Given the description of an element on the screen output the (x, y) to click on. 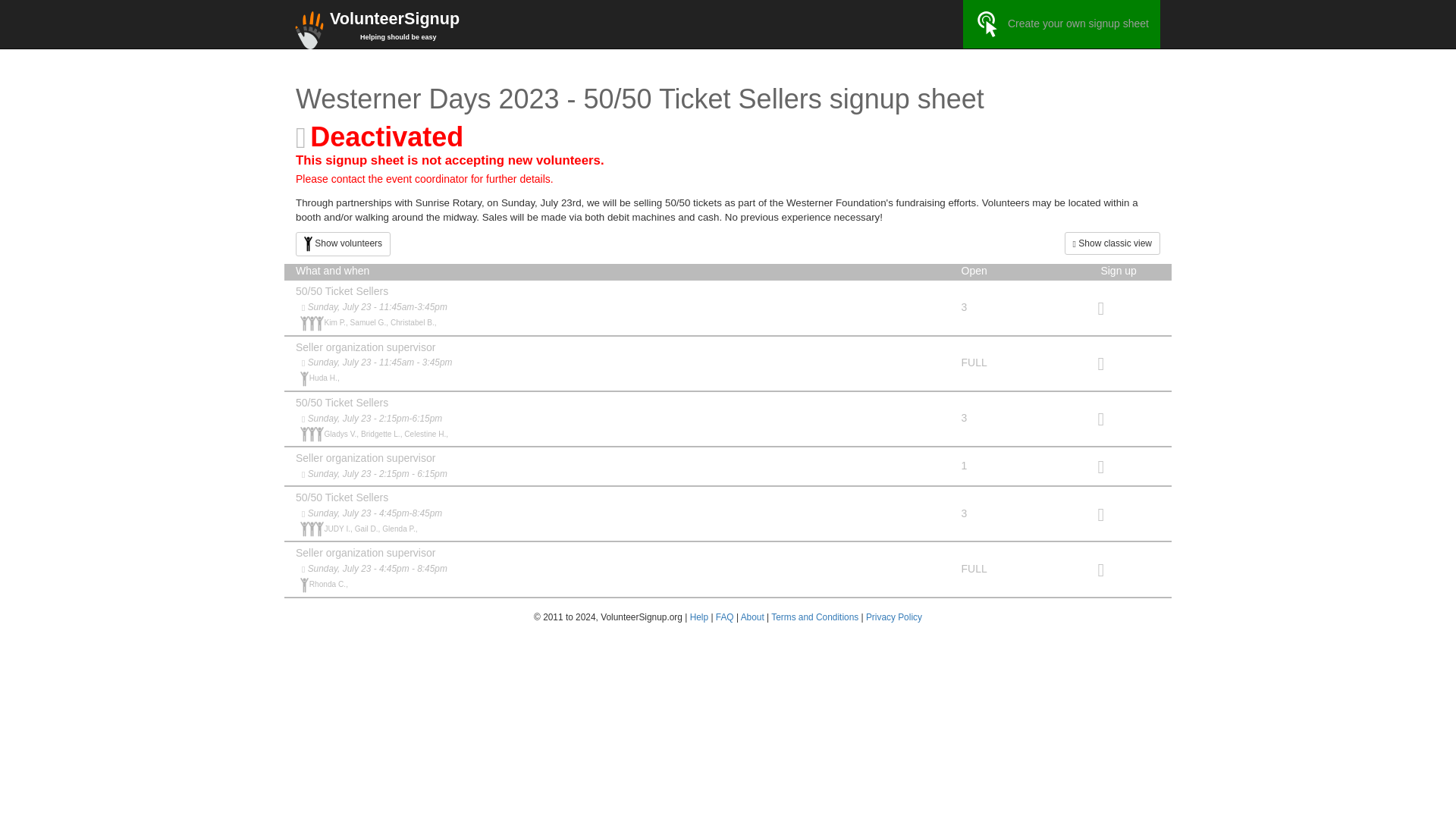
About VolunteerSignup (752, 616)
Show classic view (1112, 242)
Privacy Policy (893, 616)
Show volunteers (342, 243)
Terms and Conditions (815, 616)
FAQ (724, 616)
Terms and Conditions (815, 616)
VolunteerSignup FAQs (724, 616)
Create your own signup sheet (1061, 24)
Help (698, 616)
VolunteerSignup Help (698, 616)
Privacy Policy (893, 616)
About (752, 616)
